Given the description of an element on the screen output the (x, y) to click on. 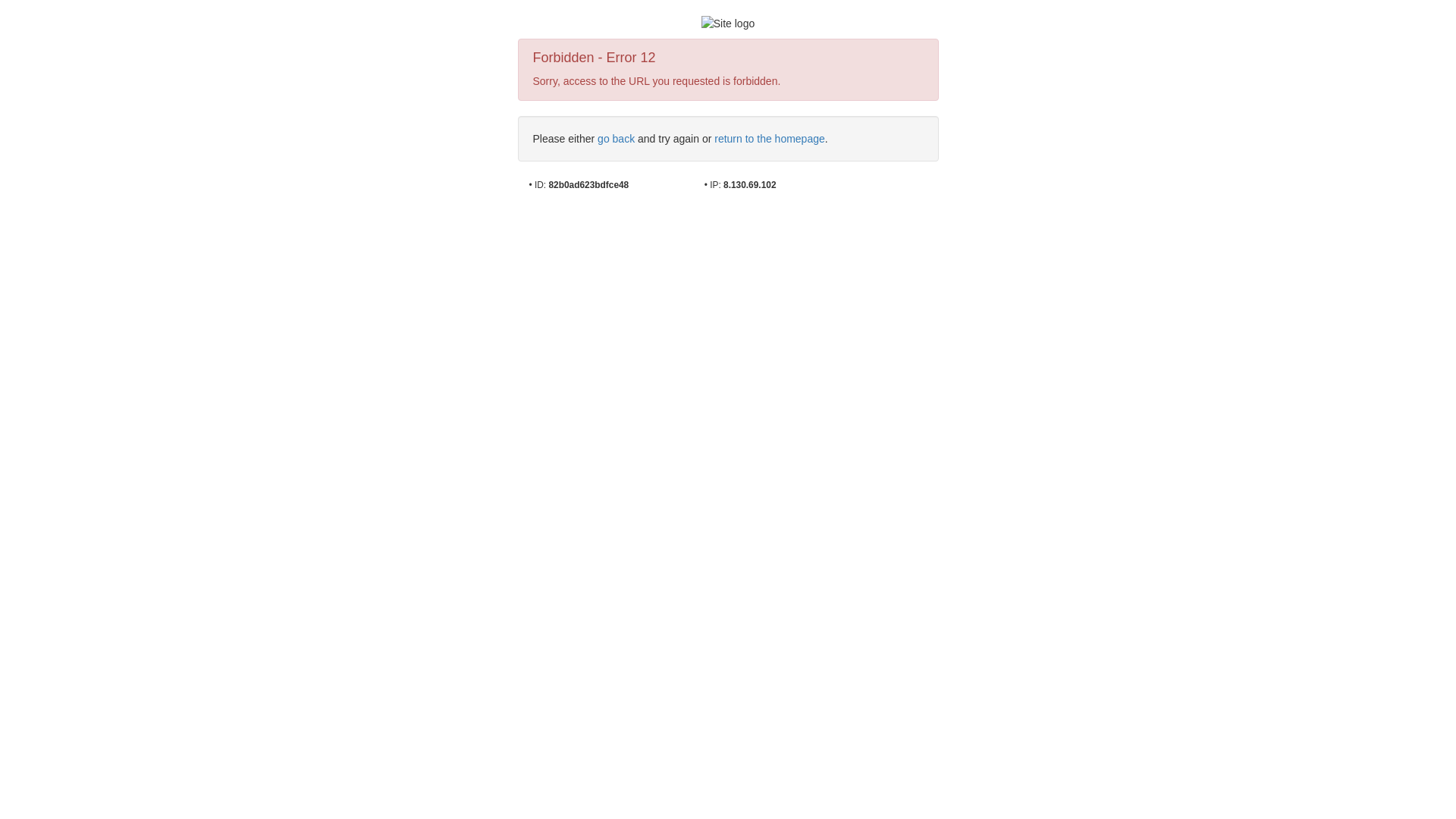
go back Element type: text (615, 138)
return to the homepage Element type: text (769, 138)
